Given the description of an element on the screen output the (x, y) to click on. 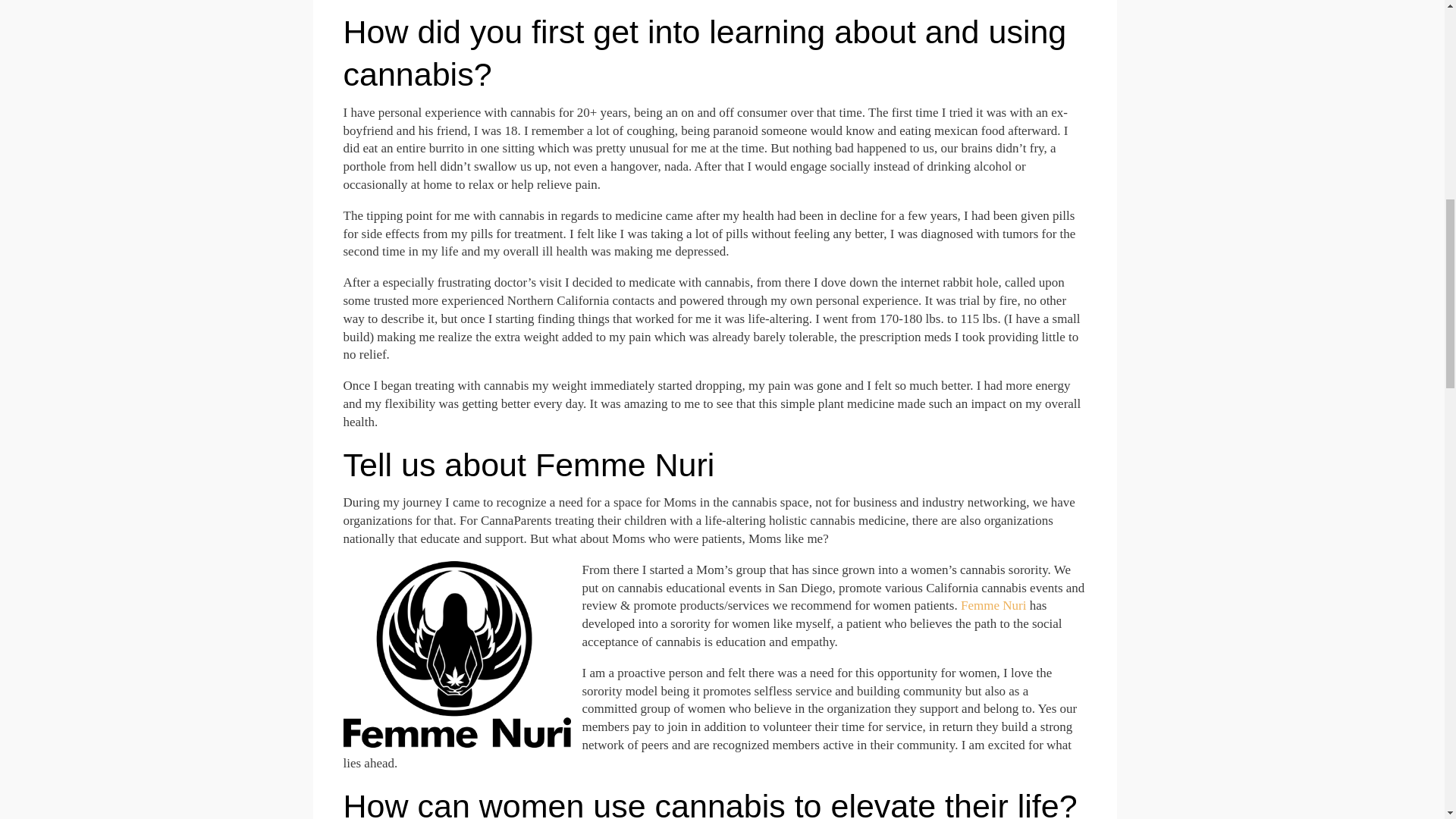
Femme Nuri (994, 605)
